Given the description of an element on the screen output the (x, y) to click on. 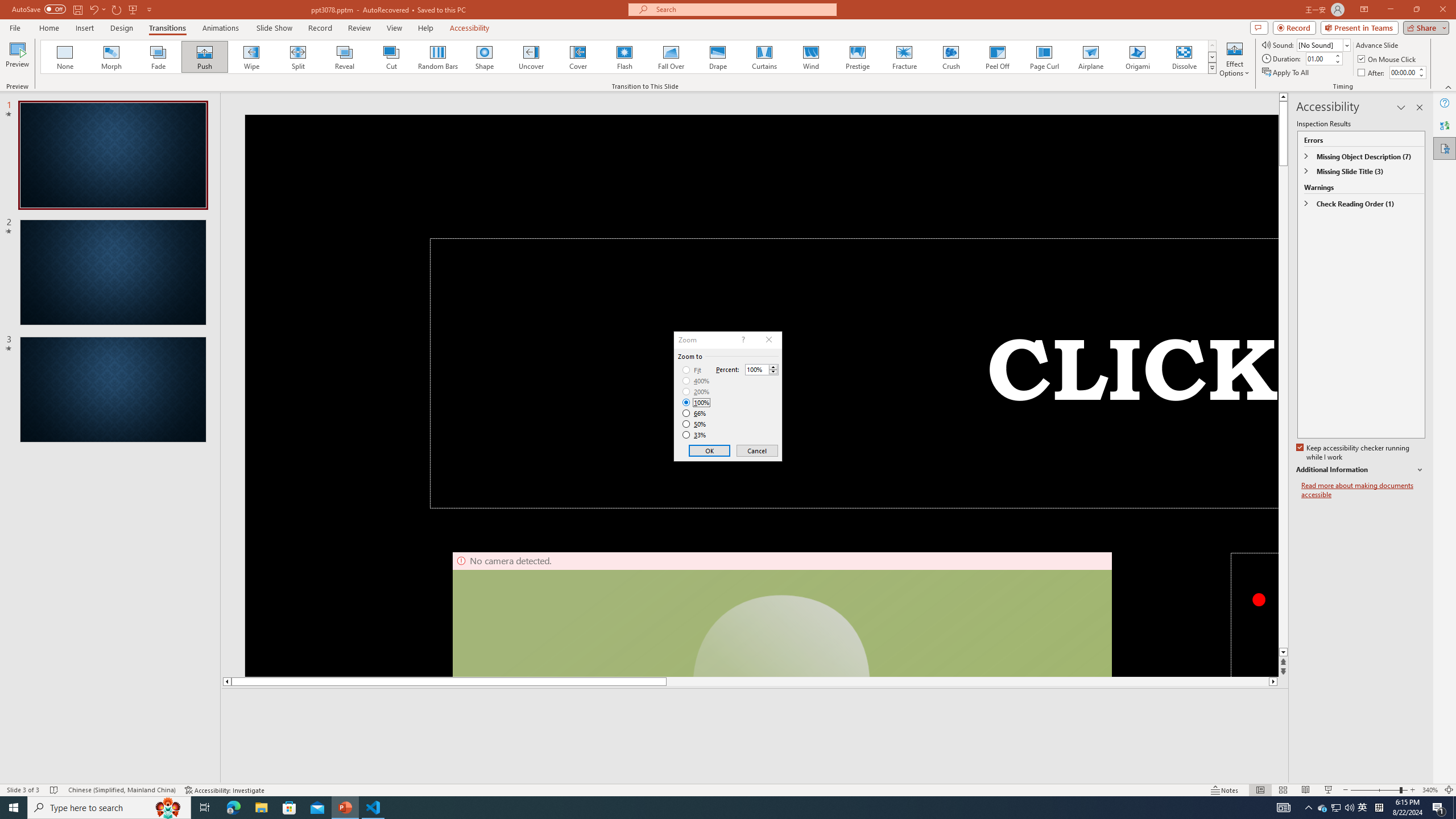
Crush (950, 56)
Percent (756, 369)
On Mouse Click (1387, 58)
100% (696, 402)
Shape (484, 56)
50% (694, 424)
